Given the description of an element on the screen output the (x, y) to click on. 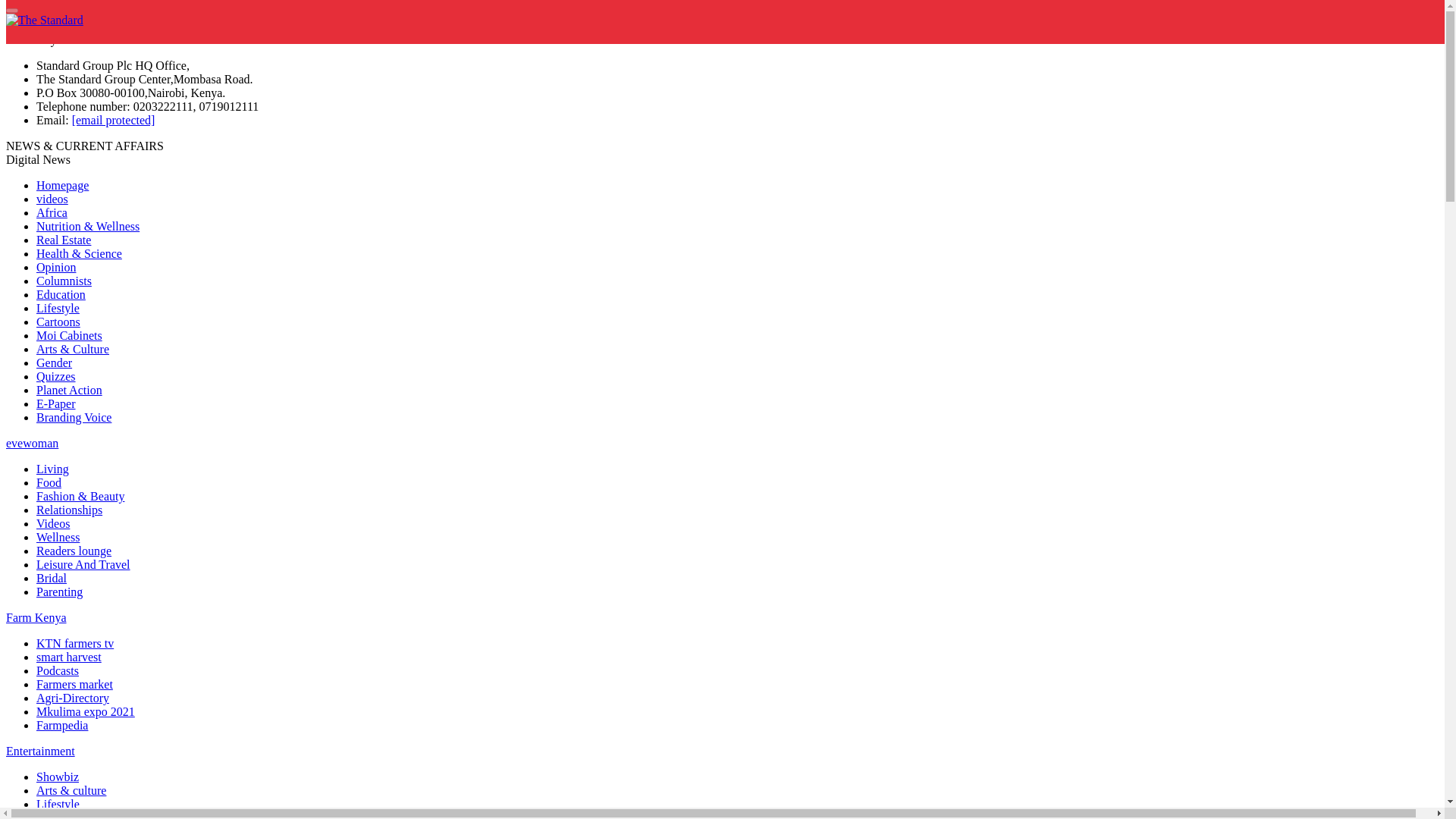
Quizzes (55, 376)
Planet Action (68, 390)
Farmers market (74, 684)
Bridal (51, 577)
Homepage (62, 185)
Opinion (55, 267)
Living (52, 468)
Agri-Directory (72, 697)
Readers lounge (74, 550)
Mkulima expo 2021 (85, 711)
